Given the description of an element on the screen output the (x, y) to click on. 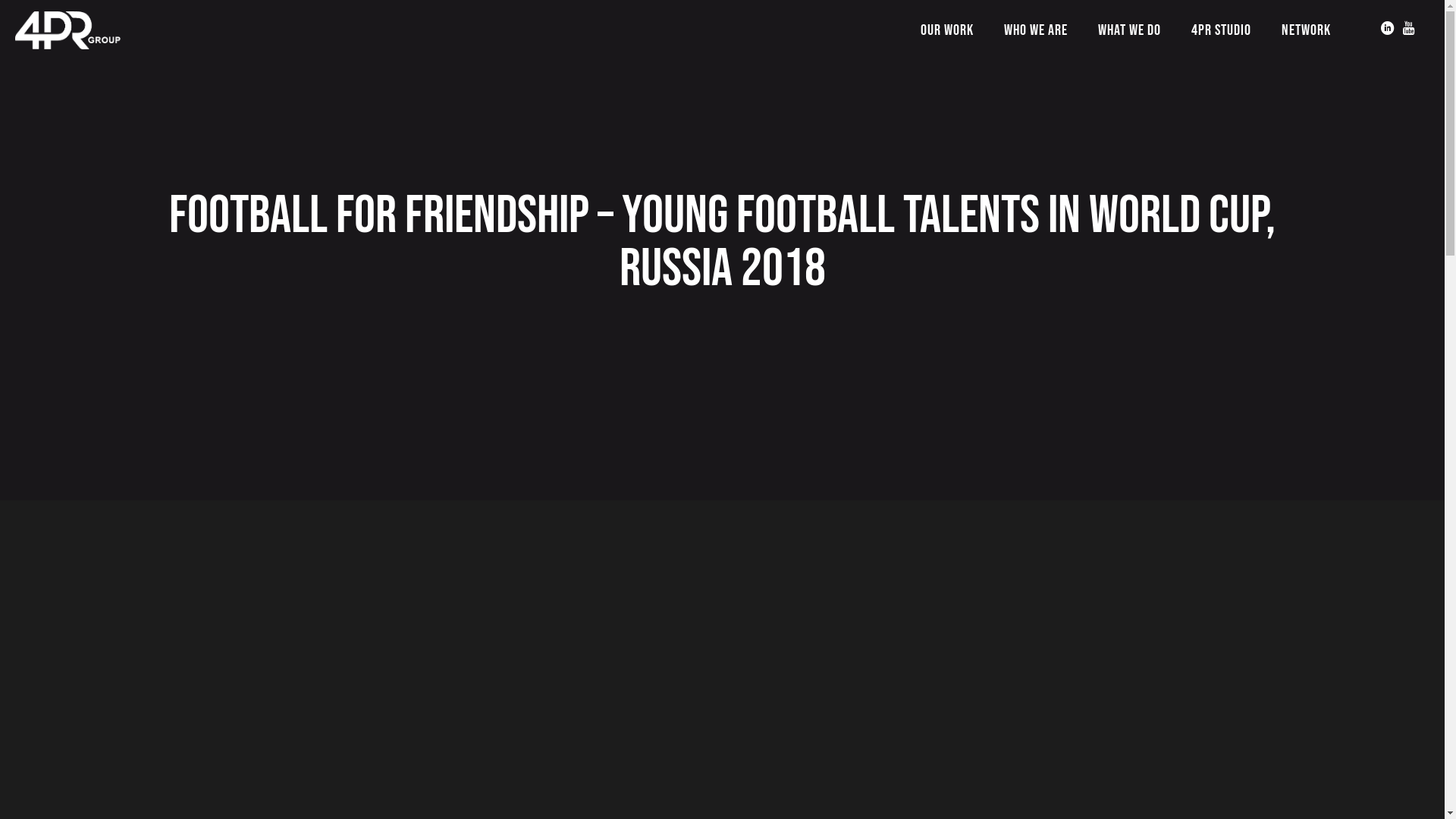
OUR WORK Element type: text (946, 30)
WHAT WE DO Element type: text (1129, 30)
NETWORK Element type: text (1306, 30)
WHO WE ARE Element type: text (1035, 30)
4PR STUDIO Element type: text (1221, 30)
